Given the description of an element on the screen output the (x, y) to click on. 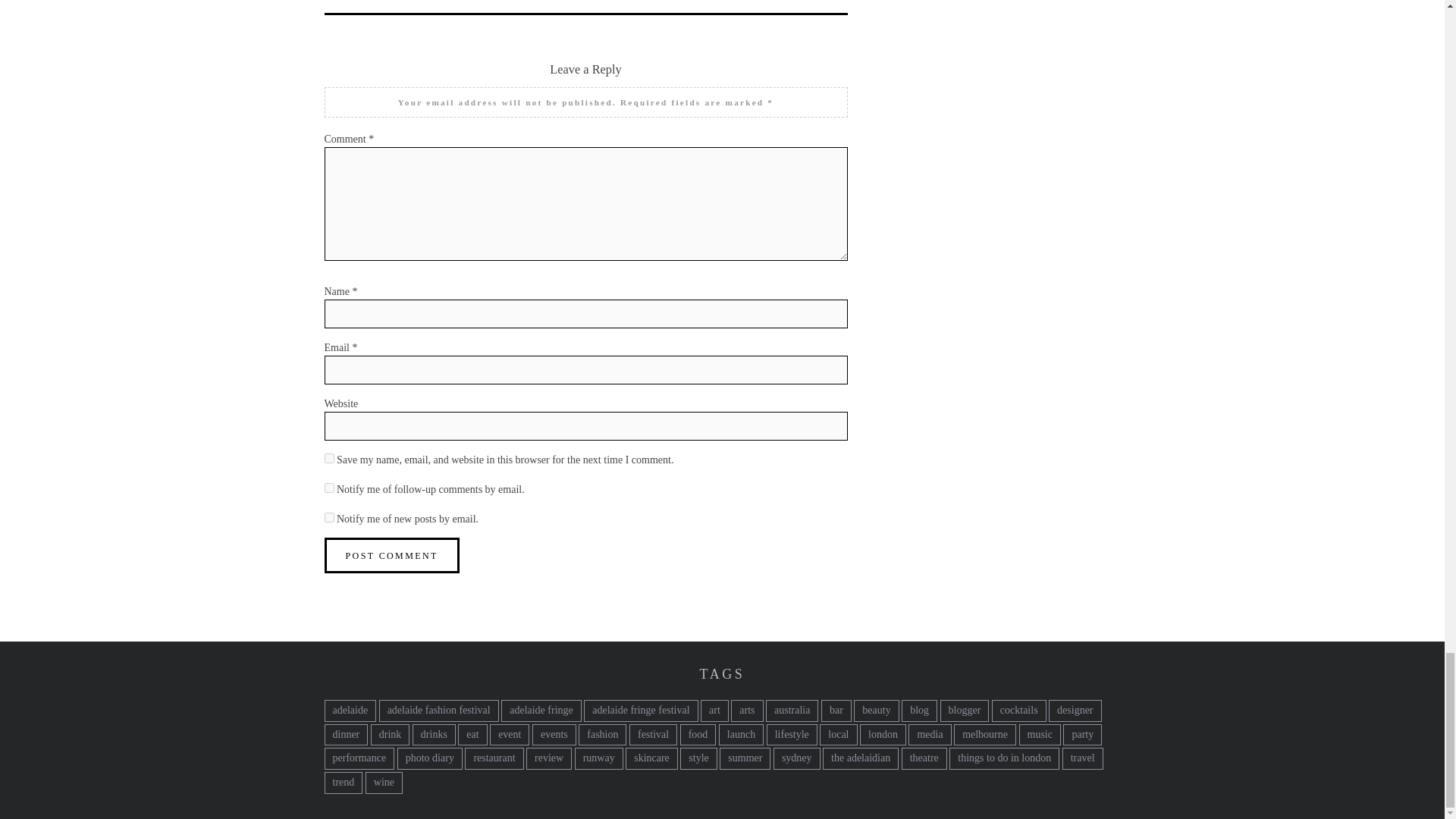
Post Comment (392, 555)
subscribe (329, 488)
subscribe (329, 517)
yes (329, 458)
